Given the description of an element on the screen output the (x, y) to click on. 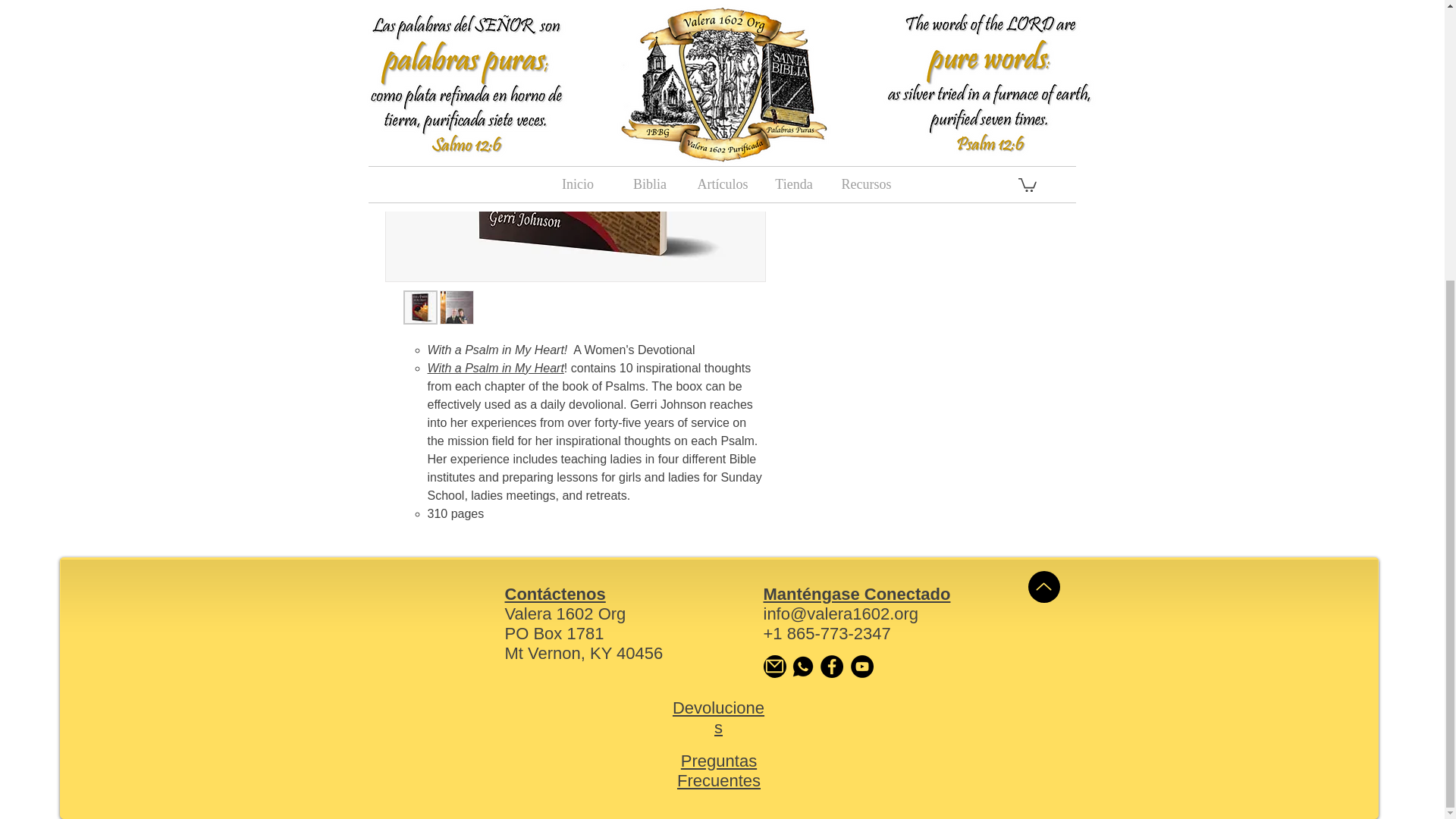
Agregar al carrito (924, 57)
Preguntas Frecuentes (718, 770)
Devoluciones (718, 717)
Realizar compra (924, 97)
1 (817, 9)
